Given the description of an element on the screen output the (x, y) to click on. 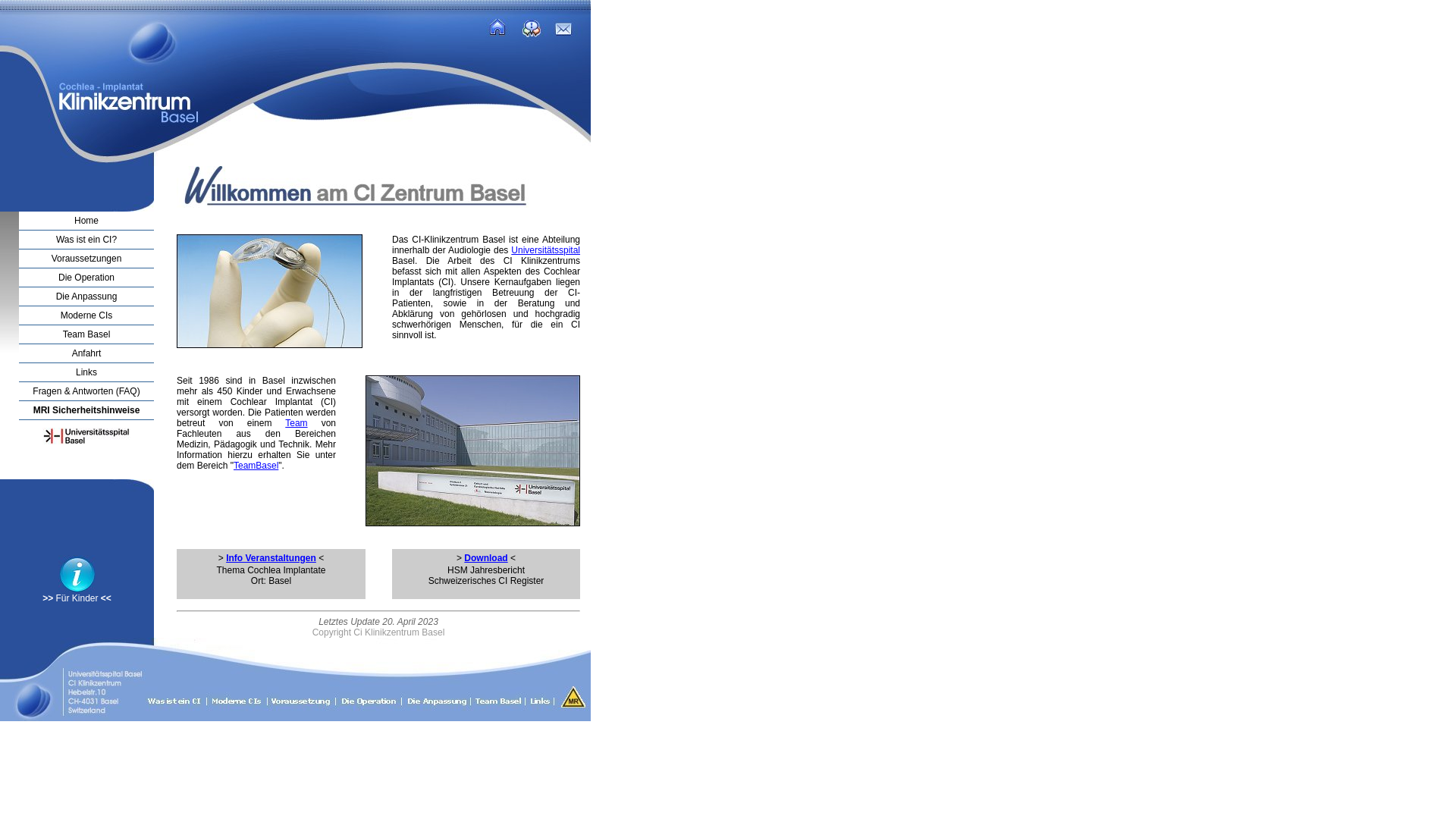
Info Veranstaltungen Element type: text (270, 557)
Fragen & Antworten (FAQ) Element type: text (85, 390)
Voraussetzungen Element type: text (86, 258)
MRI Sicherheitshinweise Element type: text (86, 409)
Moderne CIs Element type: text (86, 315)
Anfahrt Element type: text (86, 353)
Home Element type: text (86, 220)
Download Element type: text (485, 557)
Links Element type: text (86, 372)
Was ist ein CI? Element type: text (86, 239)
Die Anpassung Element type: text (86, 296)
TeamBasel Element type: text (255, 465)
Team Basel Element type: text (86, 334)
Die Operation Element type: text (86, 277)
Team Element type: text (296, 422)
